Given the description of an element on the screen output the (x, y) to click on. 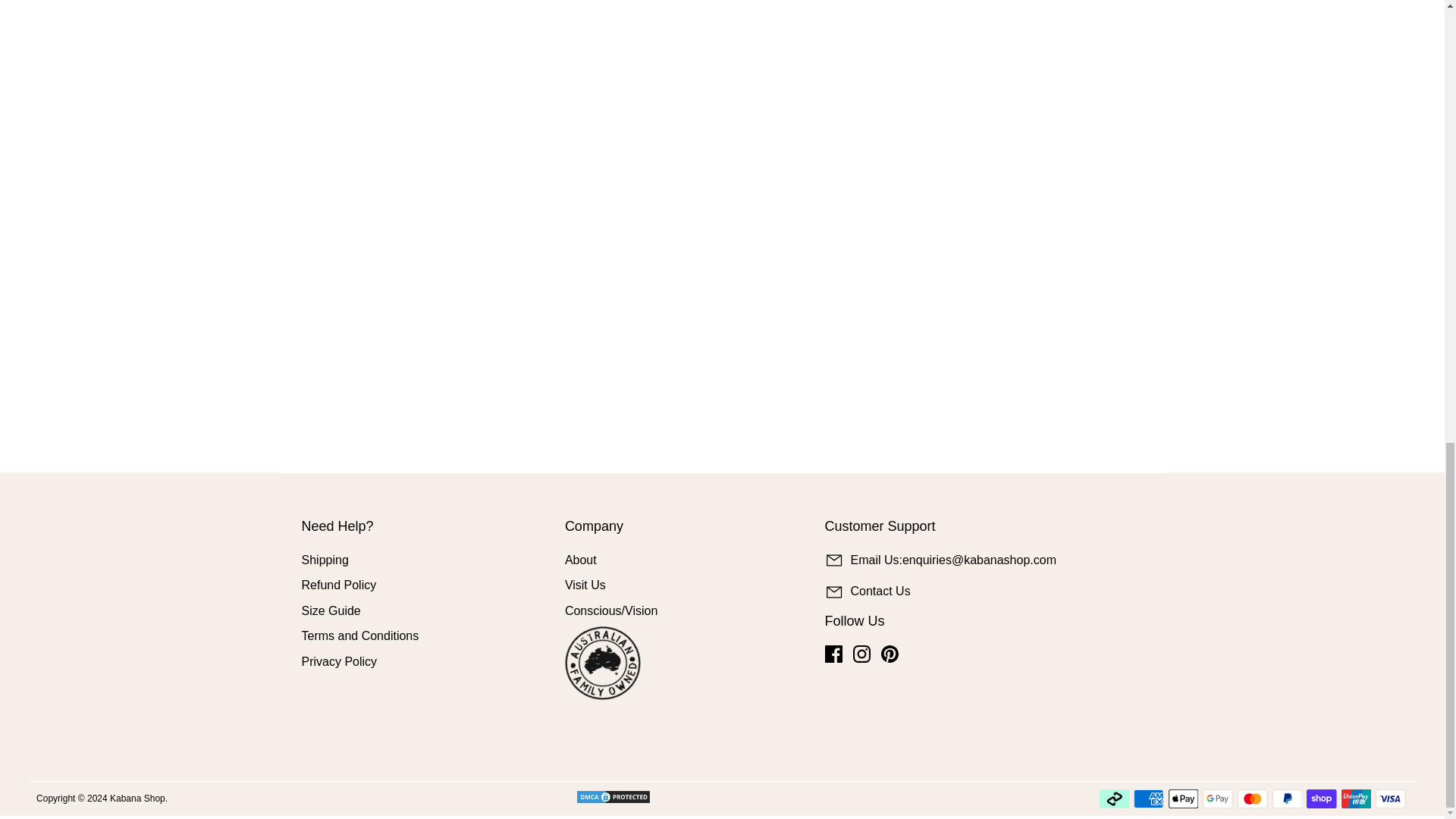
DMCA.com Protection Status (631, 796)
Facebook (834, 653)
Pinterest (889, 653)
Instagram (861, 653)
